Given the description of an element on the screen output the (x, y) to click on. 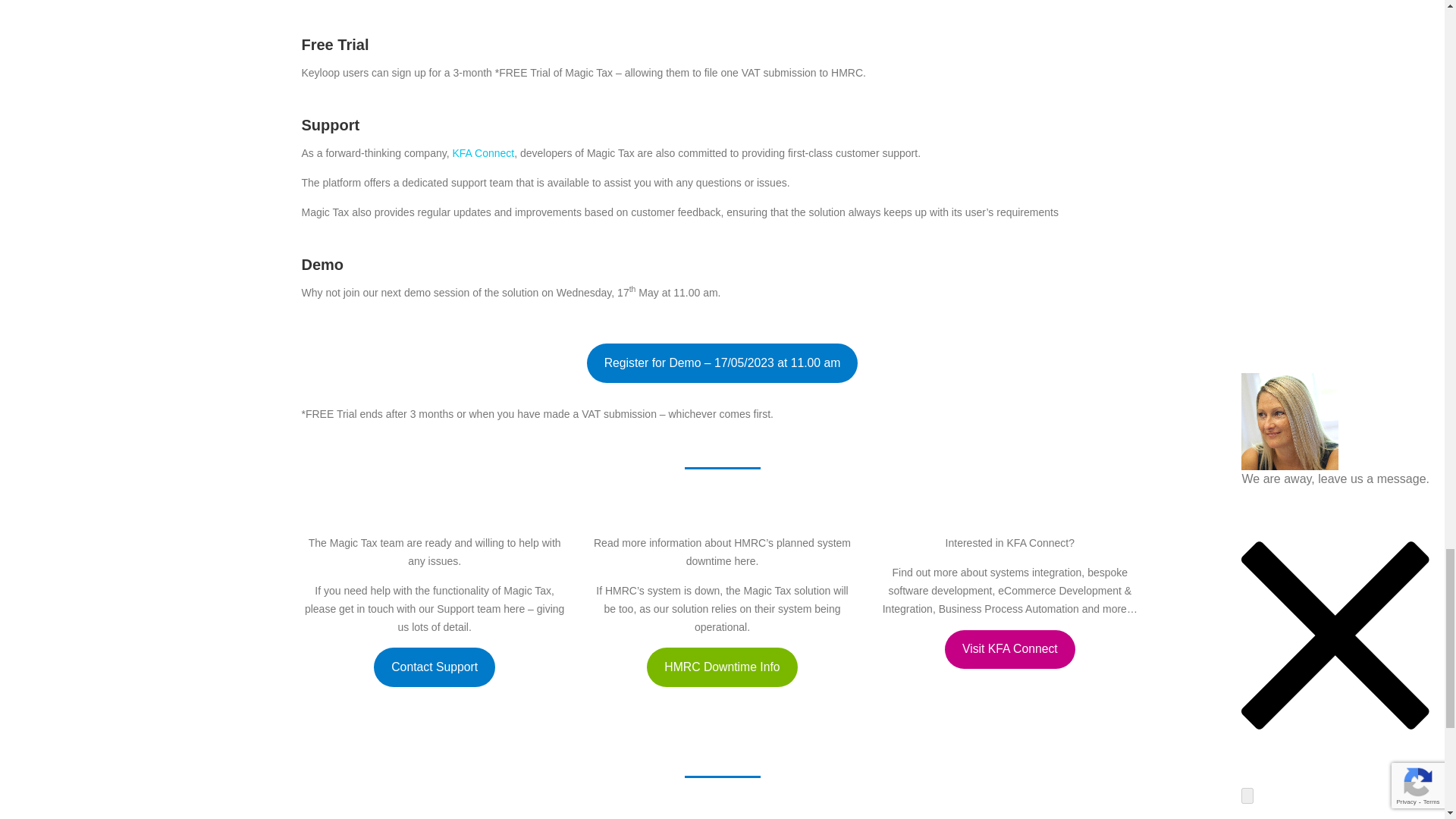
KFA Connect (482, 152)
HMRC Downtime Info (721, 667)
Visit KFA Connect (1009, 649)
Contact Support (434, 667)
